Given the description of an element on the screen output the (x, y) to click on. 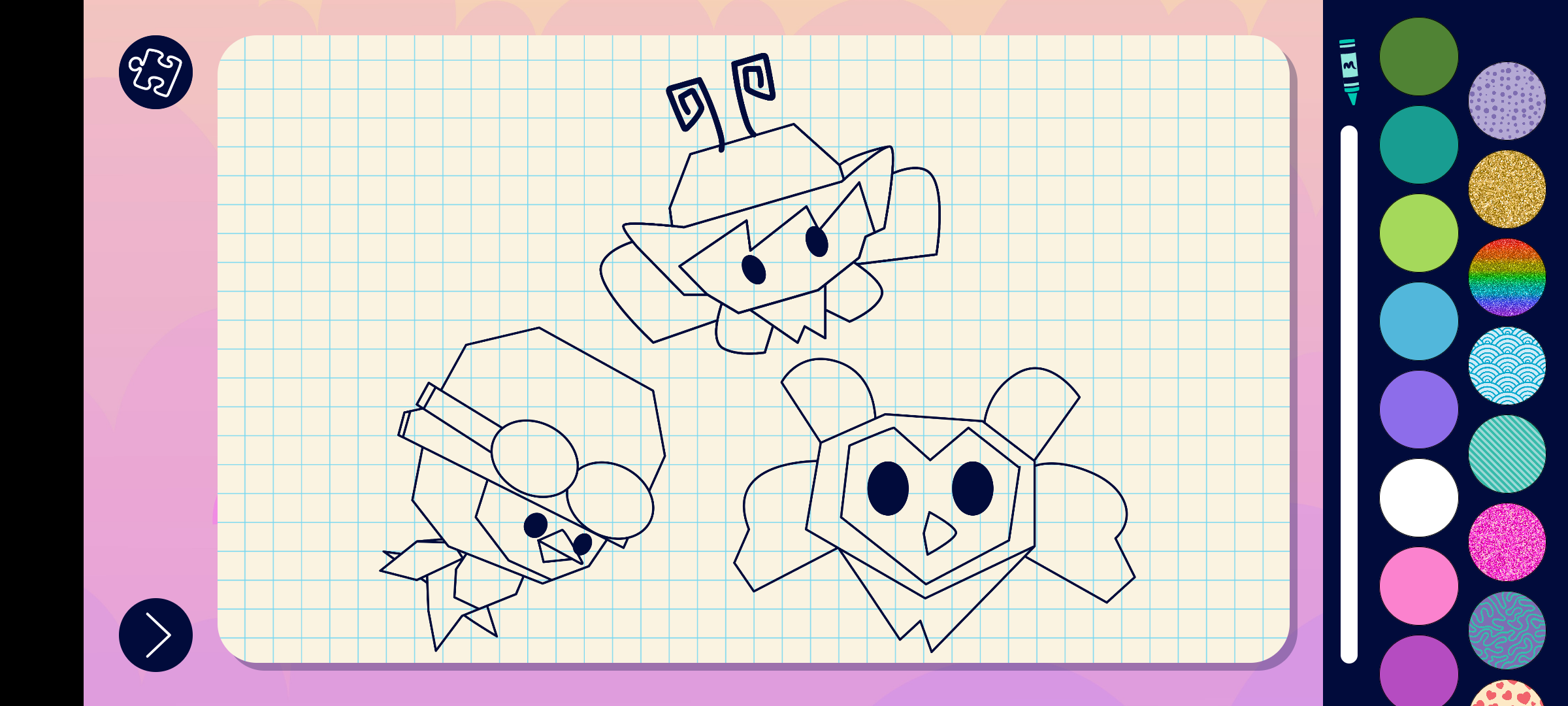
coloring background (1507, 101)
coloring background (1507, 189)
coloring background (1507, 277)
coloring background (1507, 365)
coloring background (1507, 454)
coloring background (1507, 542)
coloring background (1507, 630)
